Given the description of an element on the screen output the (x, y) to click on. 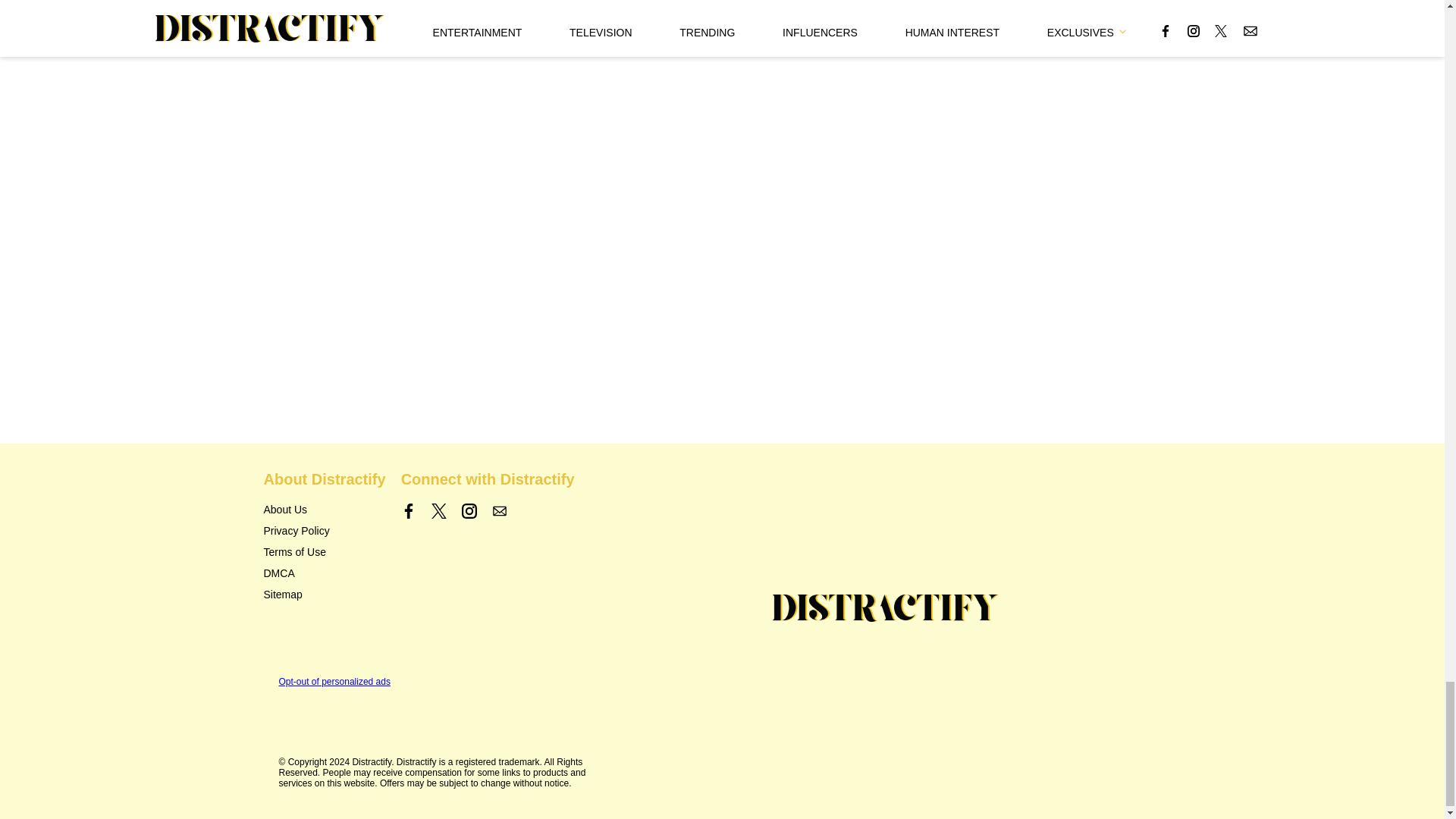
Contact us by Email (499, 510)
Link to X (438, 510)
Privacy Policy (296, 530)
Link to Instagram (469, 510)
Terms of Use (294, 551)
Sitemap (282, 594)
Link to Facebook (408, 510)
DMCA (279, 573)
About Us (285, 509)
